Given the description of an element on the screen output the (x, y) to click on. 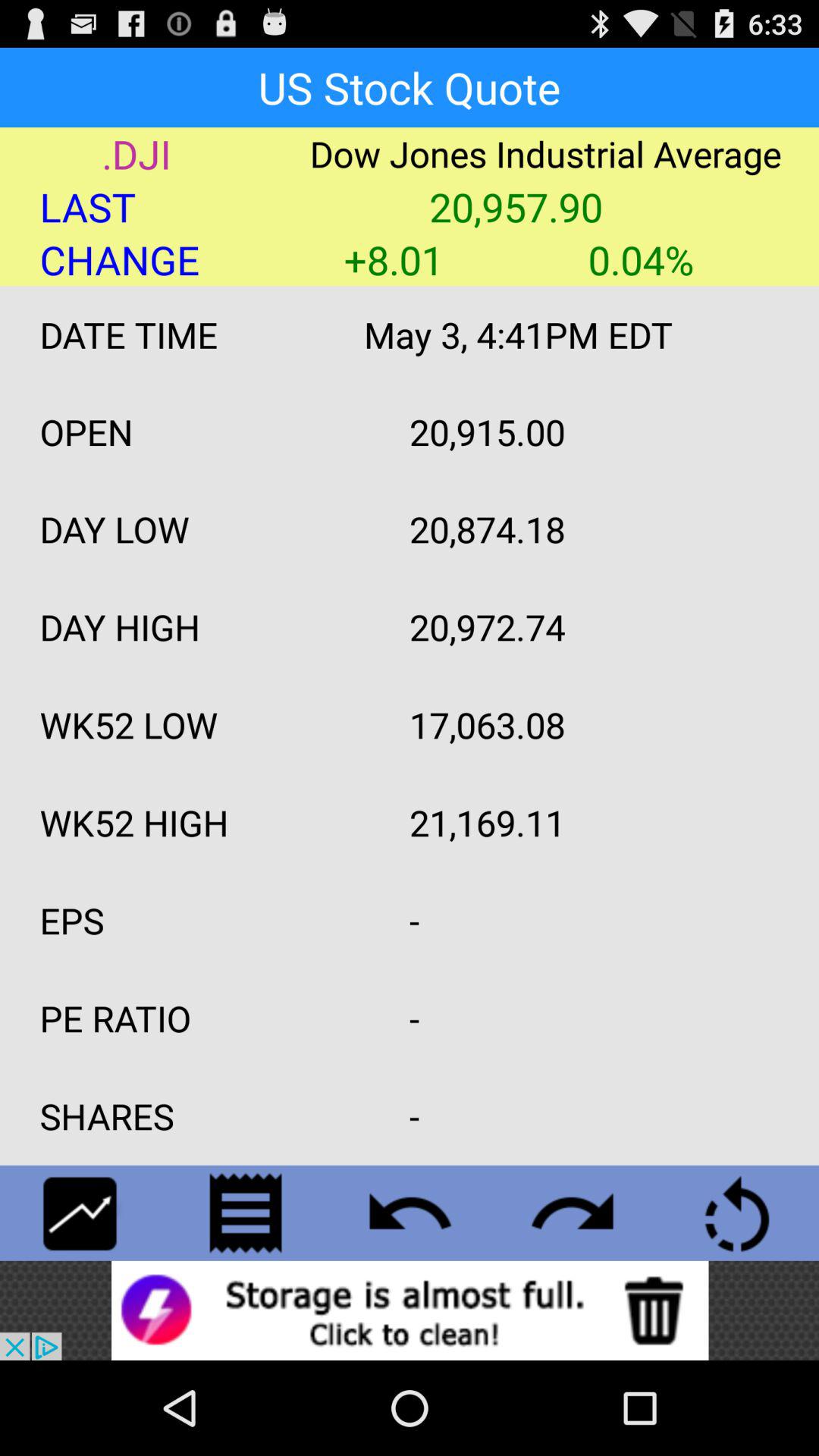
refresh page (736, 1212)
